Given the description of an element on the screen output the (x, y) to click on. 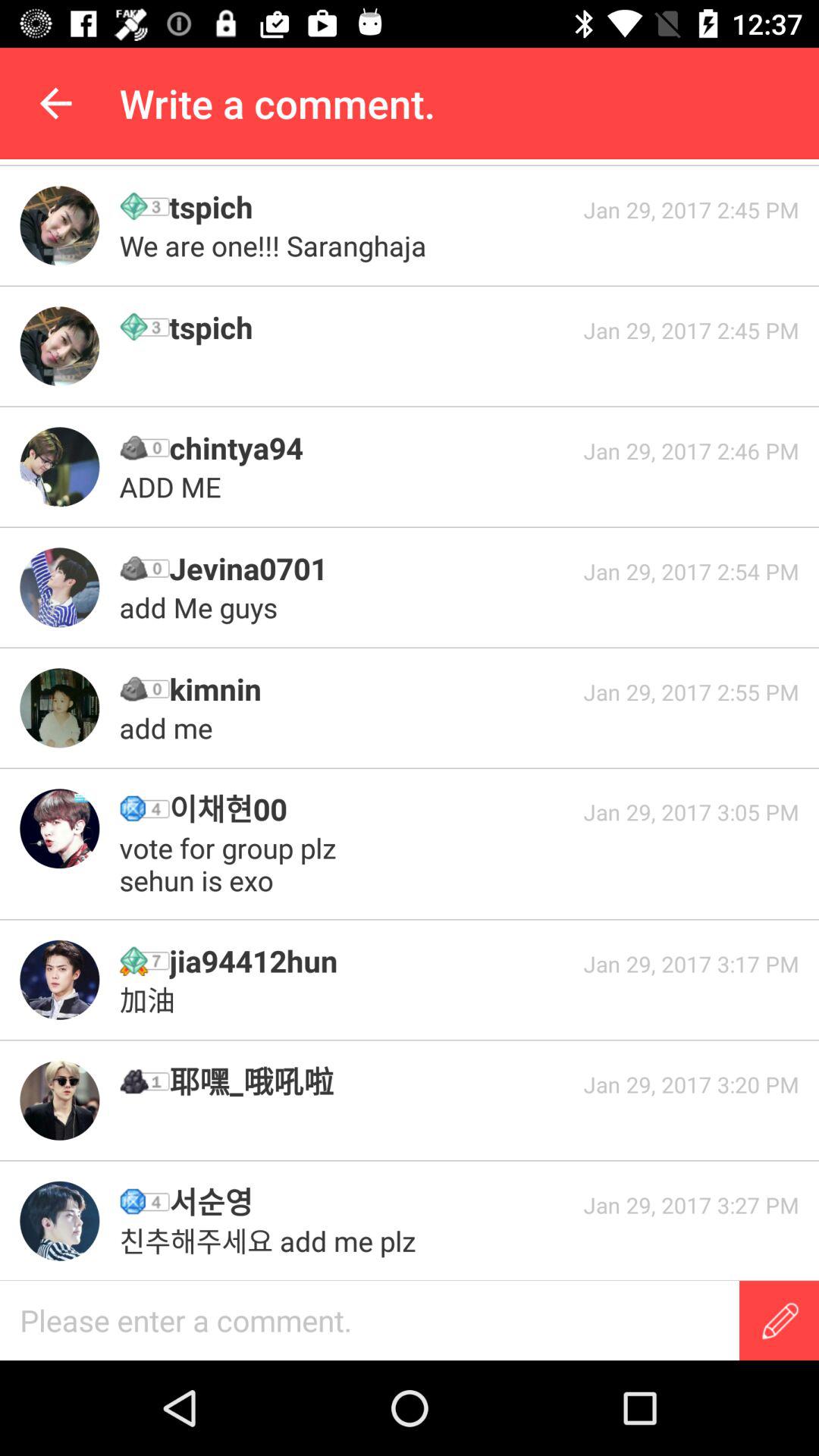
turn off the we are one icon (276, 245)
